Given the description of an element on the screen output the (x, y) to click on. 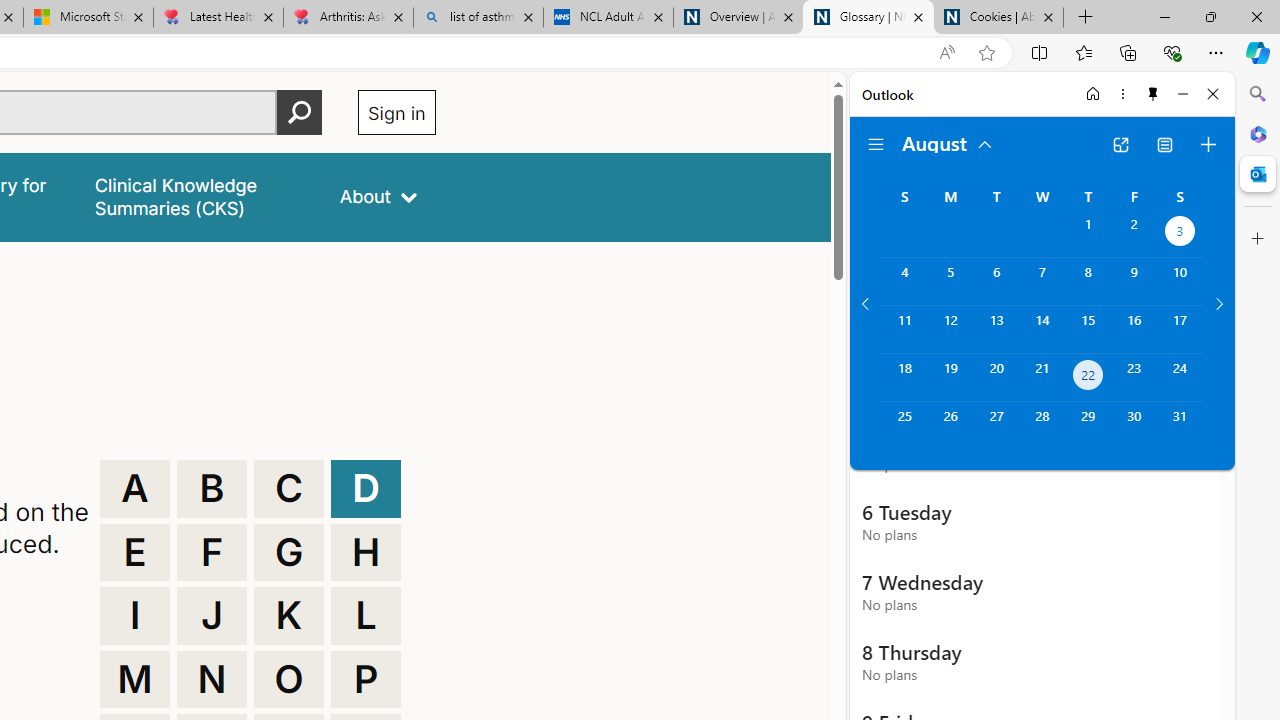
F (212, 551)
Settings and more (Alt+F) (1215, 52)
Minimize (1182, 93)
